Given the description of an element on the screen output the (x, y) to click on. 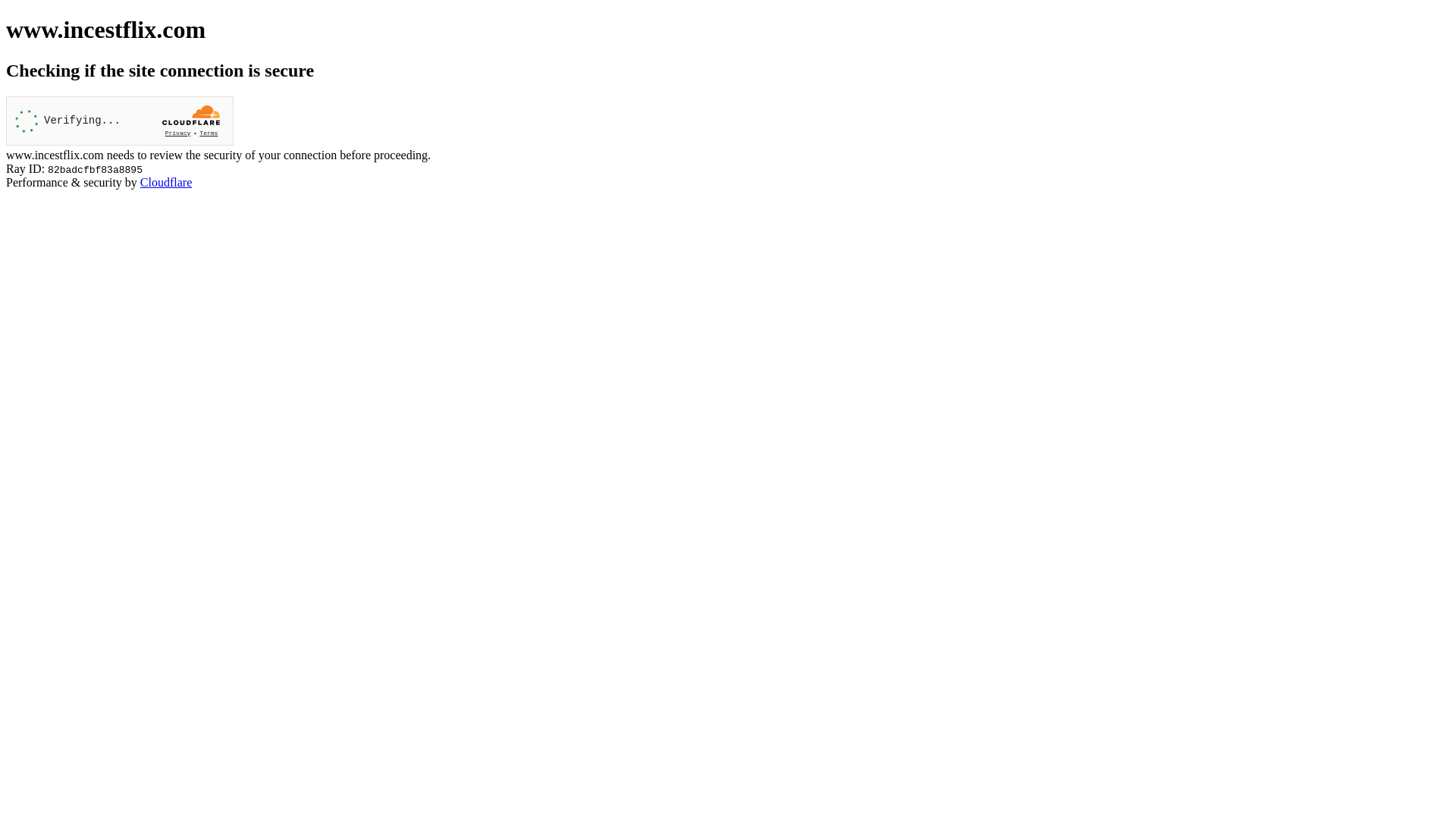
Widget containing a Cloudflare security challenge Element type: hover (119, 120)
Cloudflare Element type: text (165, 181)
